Given the description of an element on the screen output the (x, y) to click on. 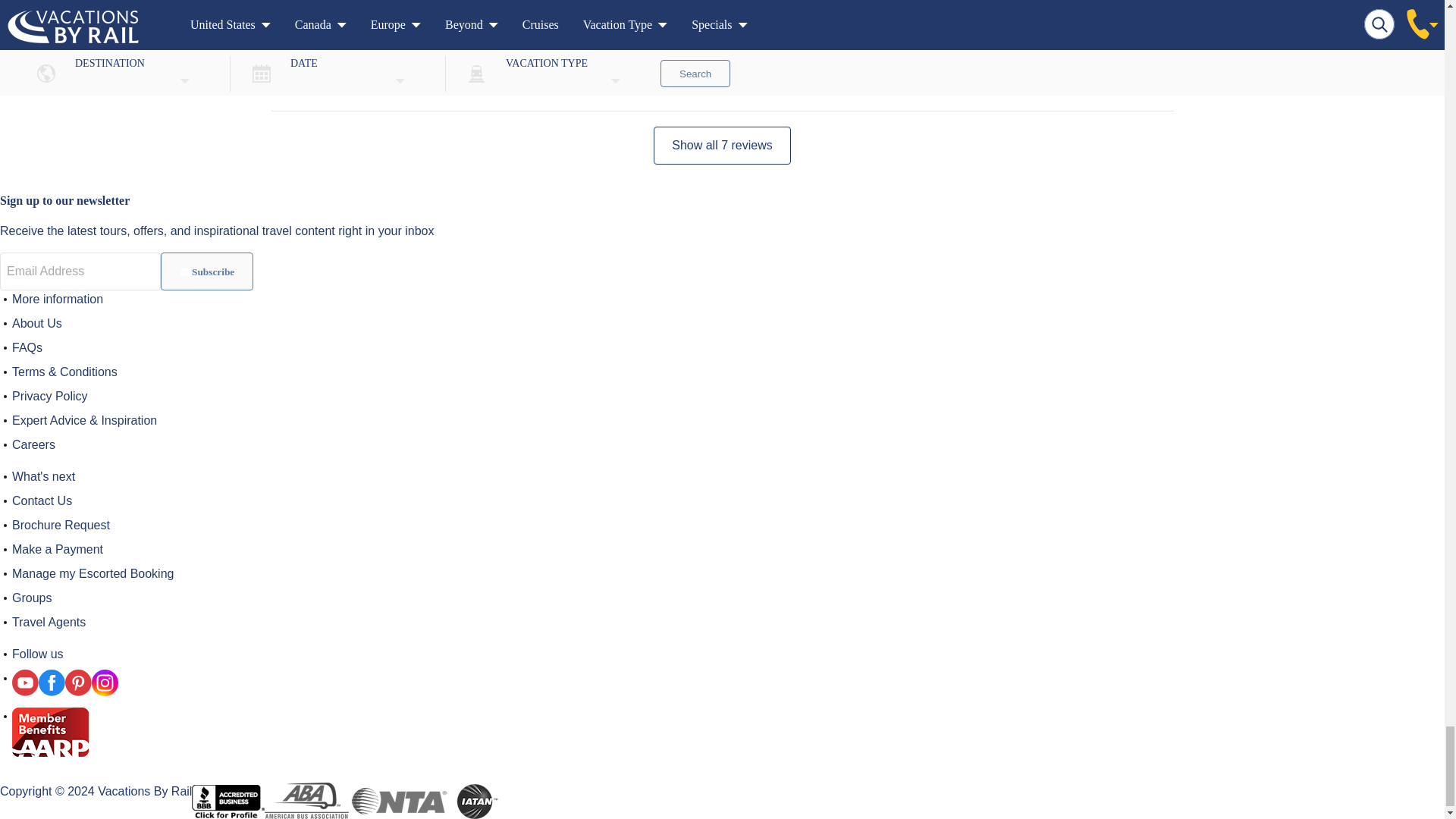
Contact Us (41, 500)
YouTube (25, 682)
Privacy Policy (49, 395)
Subscribe (206, 271)
Travel Agents (48, 621)
Pinterest (78, 682)
Manage my Escorted Booking (92, 573)
About Us (36, 323)
FAQs (26, 347)
Make a Payment (57, 549)
